Given the description of an element on the screen output the (x, y) to click on. 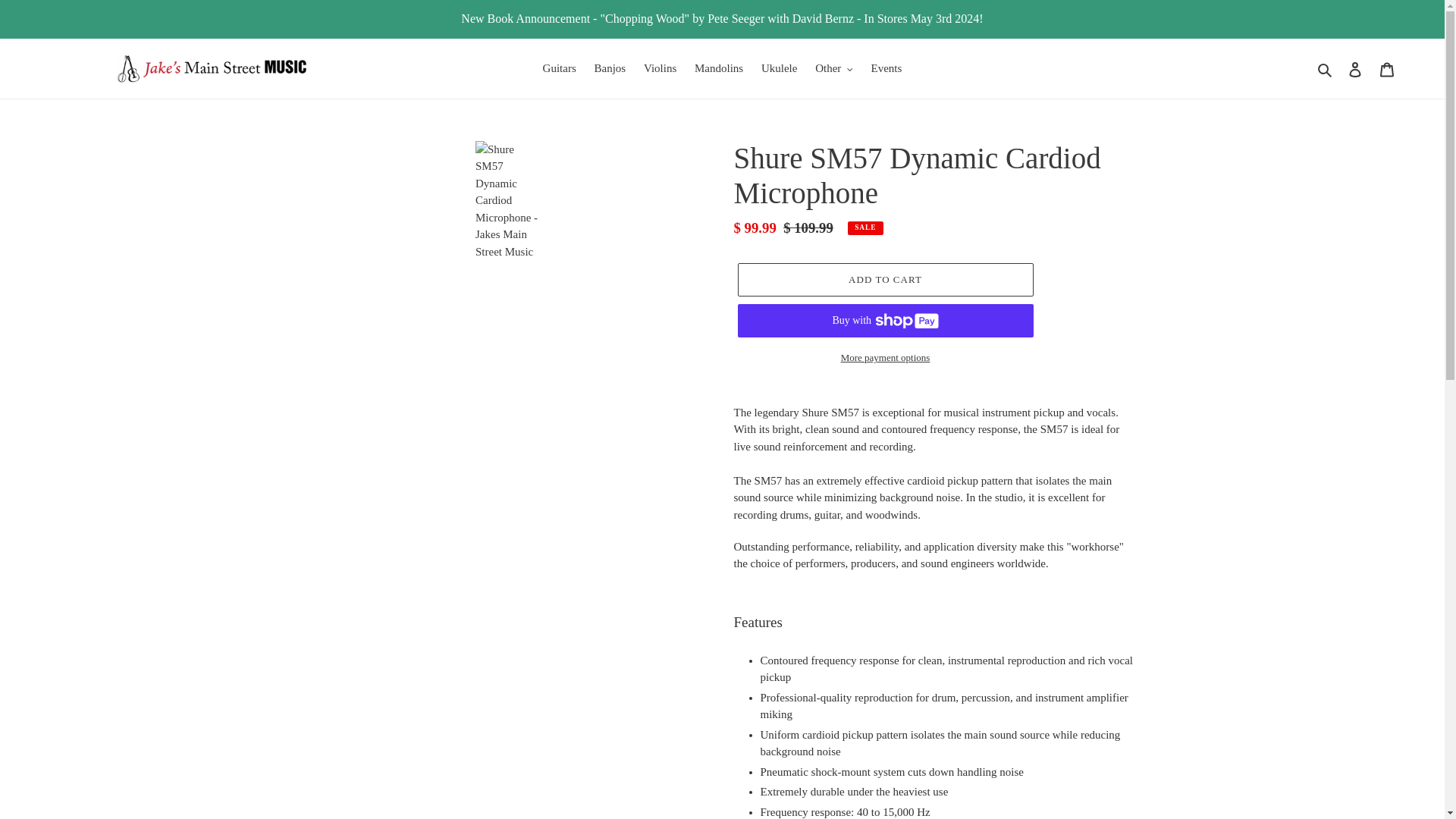
Ukulele (779, 68)
Events (886, 68)
Mandolins (719, 68)
Guitars (559, 68)
Violins (660, 68)
Cart (1387, 68)
Log in (1355, 68)
Other (834, 68)
Banjos (609, 68)
Search (1326, 67)
